Given the description of an element on the screen output the (x, y) to click on. 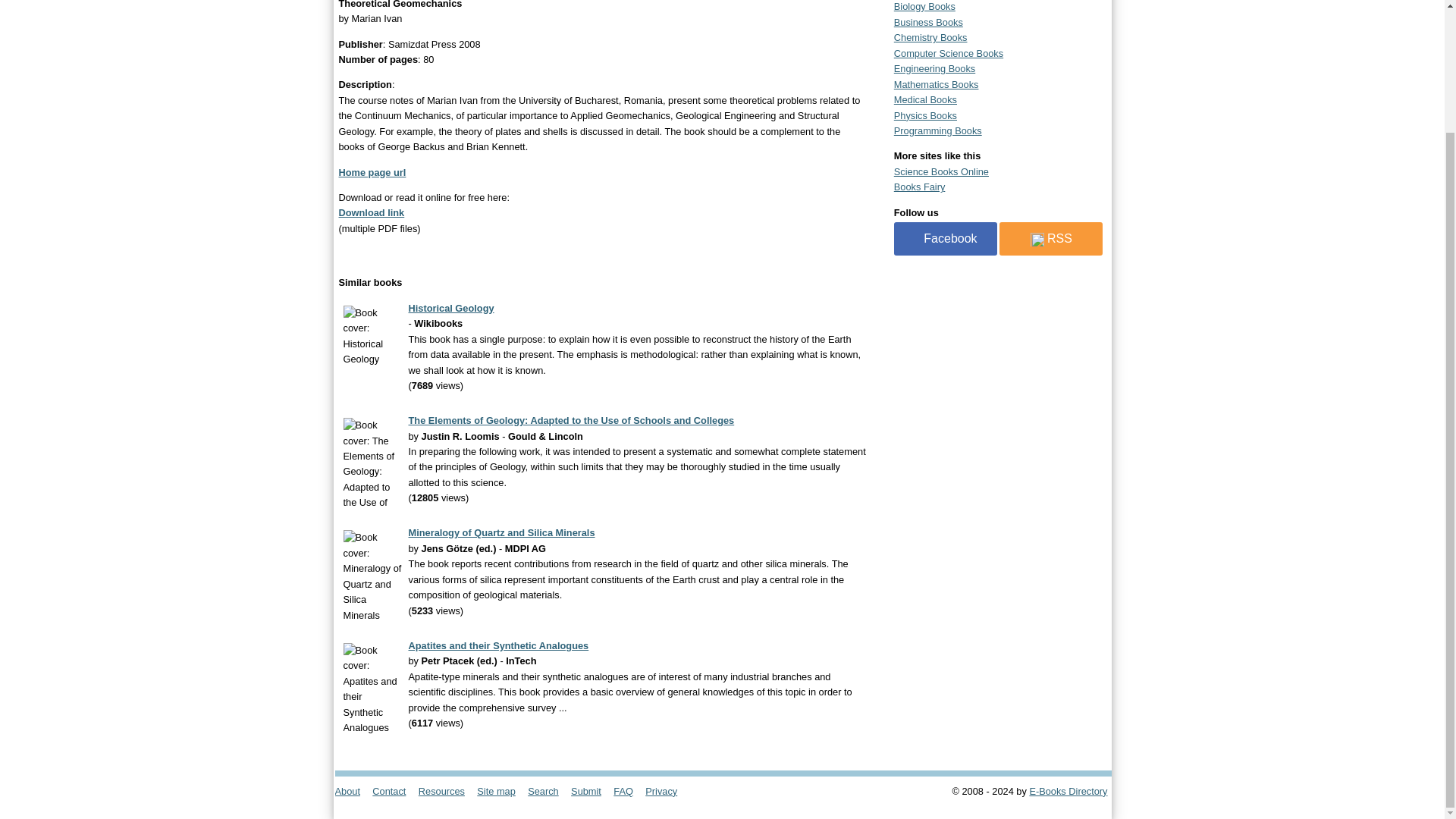
Submit (590, 790)
Download link (370, 212)
About (351, 790)
FAQ (627, 790)
Mineralogy of Quartz and Silica Minerals (500, 532)
Site map (500, 790)
Search (547, 790)
Resources (446, 790)
Home page url (371, 172)
Historical Geology (450, 307)
